Given the description of an element on the screen output the (x, y) to click on. 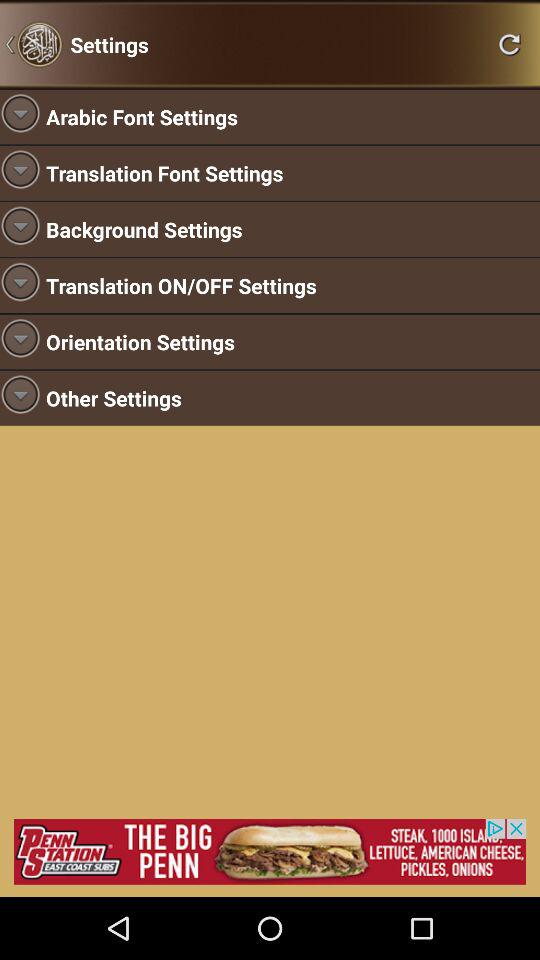
go back (509, 44)
